Given the description of an element on the screen output the (x, y) to click on. 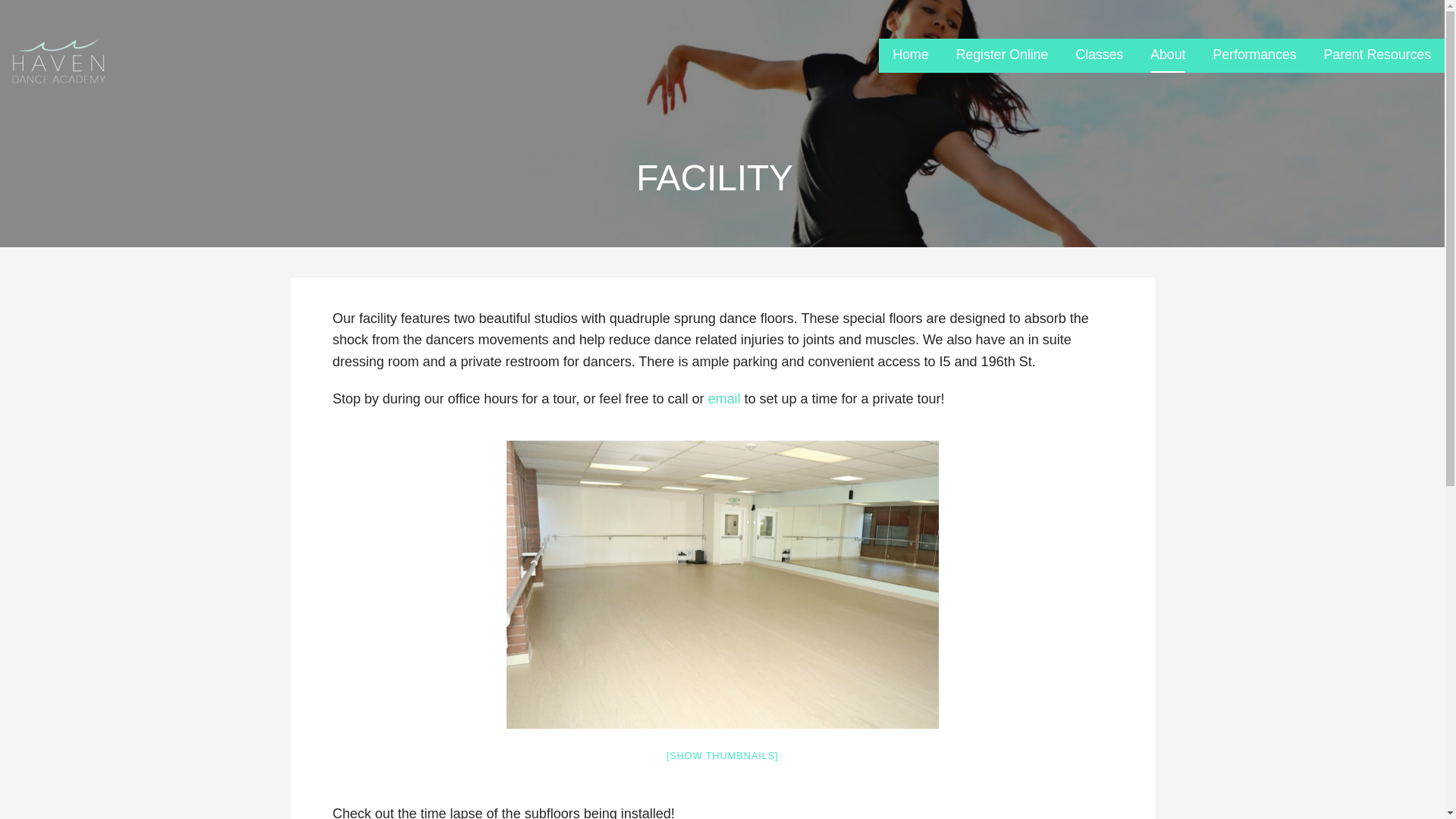
Home (910, 55)
Performances (1253, 55)
Studio one at Haven Dance Academy (722, 584)
Studio one at Haven Dance Academy (722, 584)
About (1167, 55)
Parent Resources (1377, 55)
email (723, 398)
Register Online (1002, 55)
Classes (1098, 55)
